Given the description of an element on the screen output the (x, y) to click on. 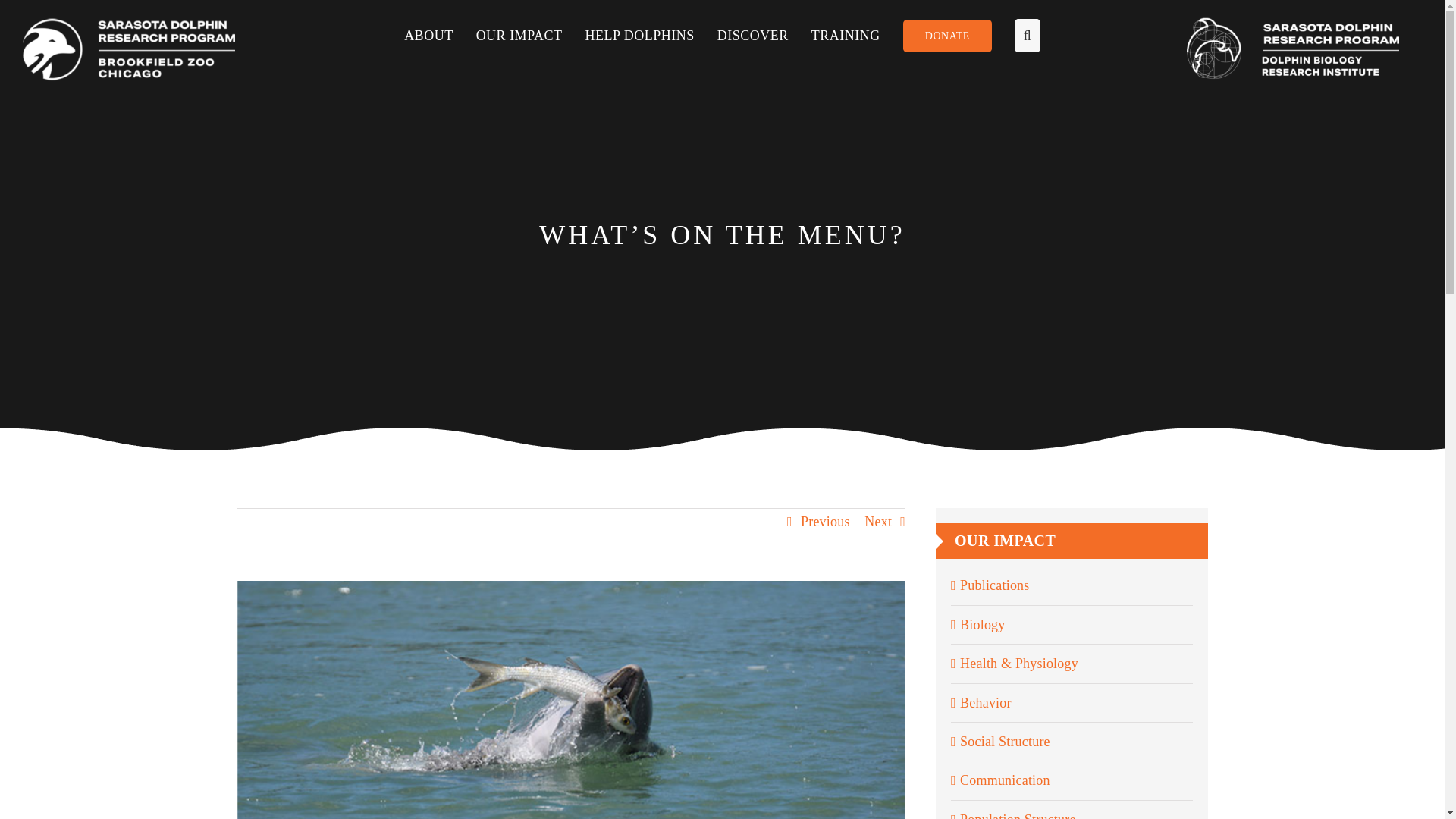
ABOUT (440, 35)
Search (1016, 35)
OUR IMPACT (530, 35)
HELP DOLPHINS (651, 35)
DISCOVER (763, 35)
